Given the description of an element on the screen output the (x, y) to click on. 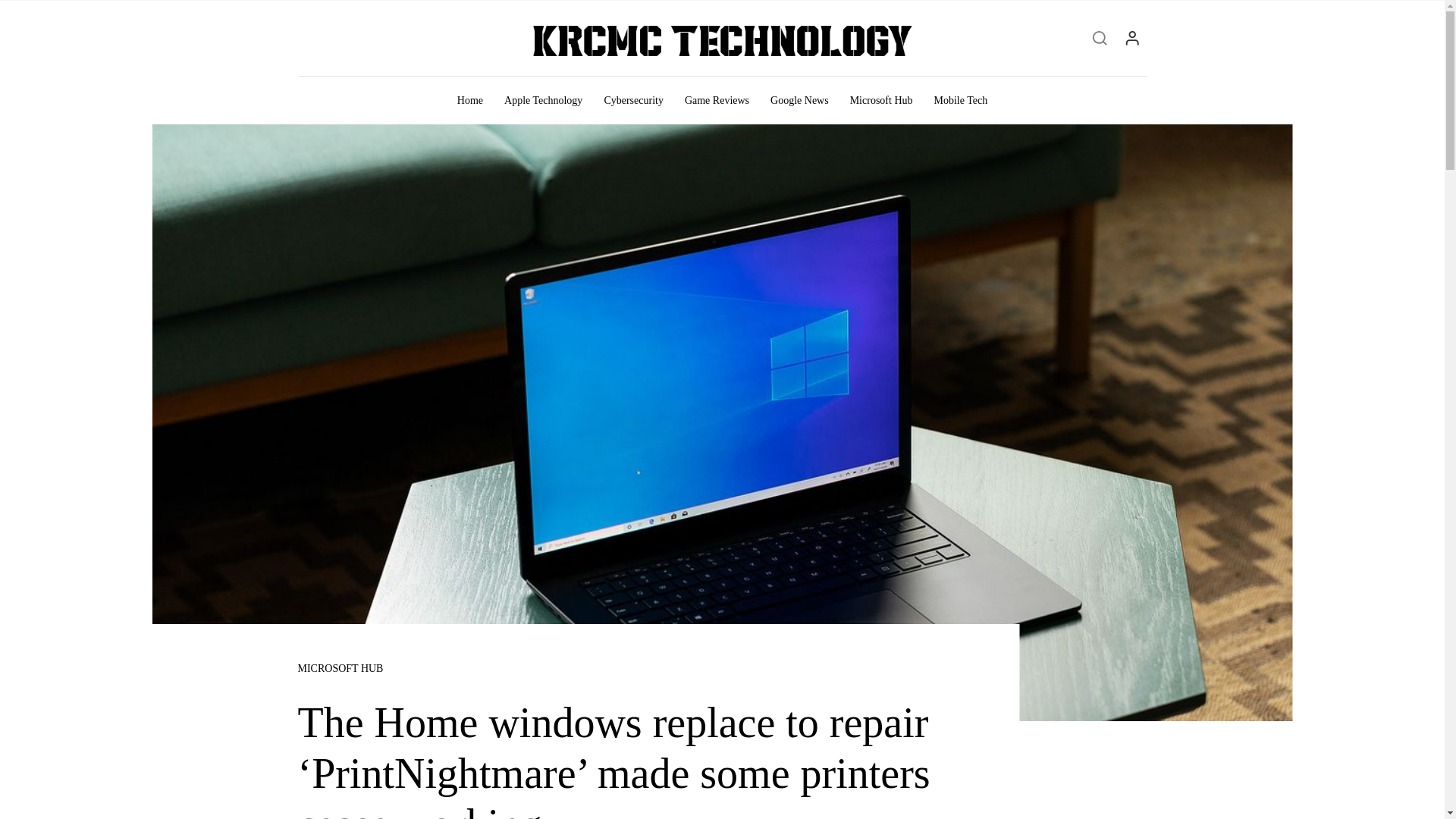
Cybersecurity (633, 100)
Google News (800, 100)
View all posts in Microsoft Hub (340, 668)
Microsoft Hub (881, 100)
Game Reviews (717, 100)
MICROSOFT HUB (340, 668)
Home (469, 100)
Apple Technology (542, 100)
Mobile Tech (960, 100)
